Given the description of an element on the screen output the (x, y) to click on. 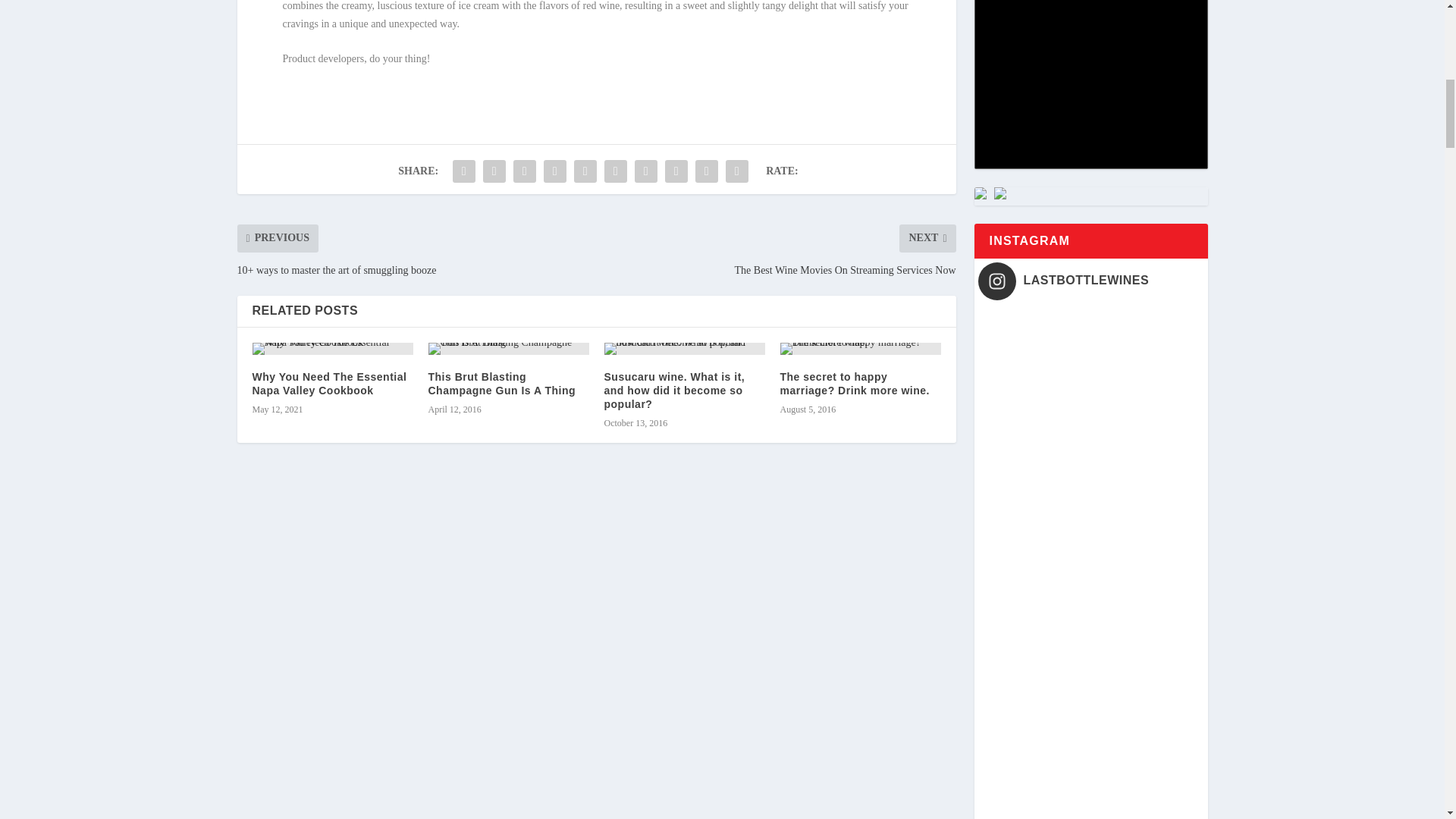
Share "Wine infused coffee is now a thing" via Tumblr (555, 171)
This Brut Blasting Champagne Gun Is A Thing (508, 348)
Share "Wine infused coffee is now a thing" via Print (737, 171)
Why You Need The Essential Napa Valley Cookbook (331, 348)
The secret to happy marriage? Drink more wine. (859, 348)
Susucaru wine. What is it, and how did it become so popular? (684, 348)
Share "Wine infused coffee is now a thing" via Facebook (463, 171)
Share "Wine infused coffee is now a thing" via Buffer (645, 171)
Share "Wine infused coffee is now a thing" via Pinterest (584, 171)
Share "Wine infused coffee is now a thing" via Twitter (494, 171)
